Given the description of an element on the screen output the (x, y) to click on. 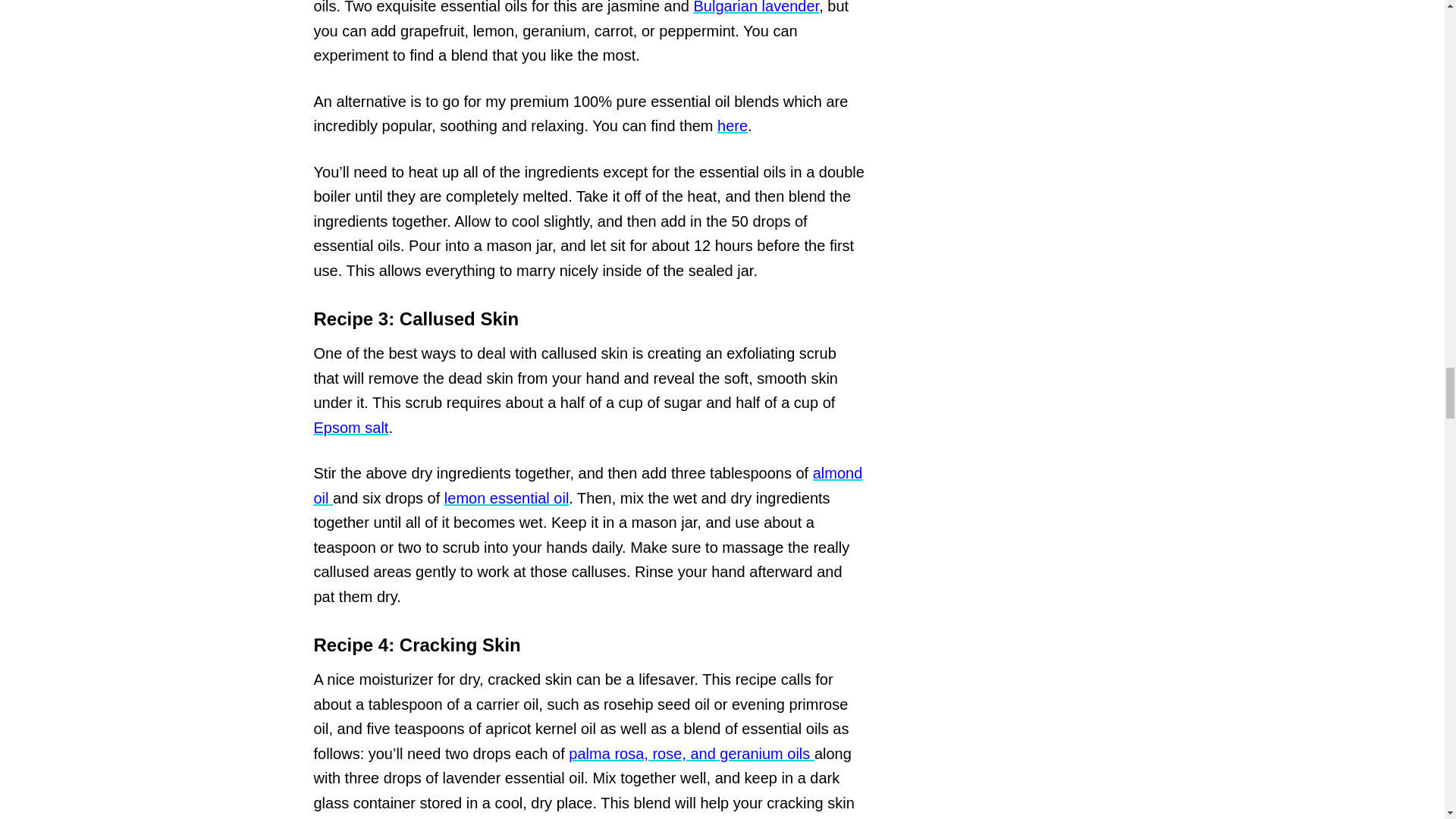
Epsom salt (351, 427)
almond oil (588, 485)
Bulgarian lavender (755, 7)
here (732, 125)
lemon essential oil (506, 497)
palma rosa, rose, and geranium oils (691, 753)
